Given the description of an element on the screen output the (x, y) to click on. 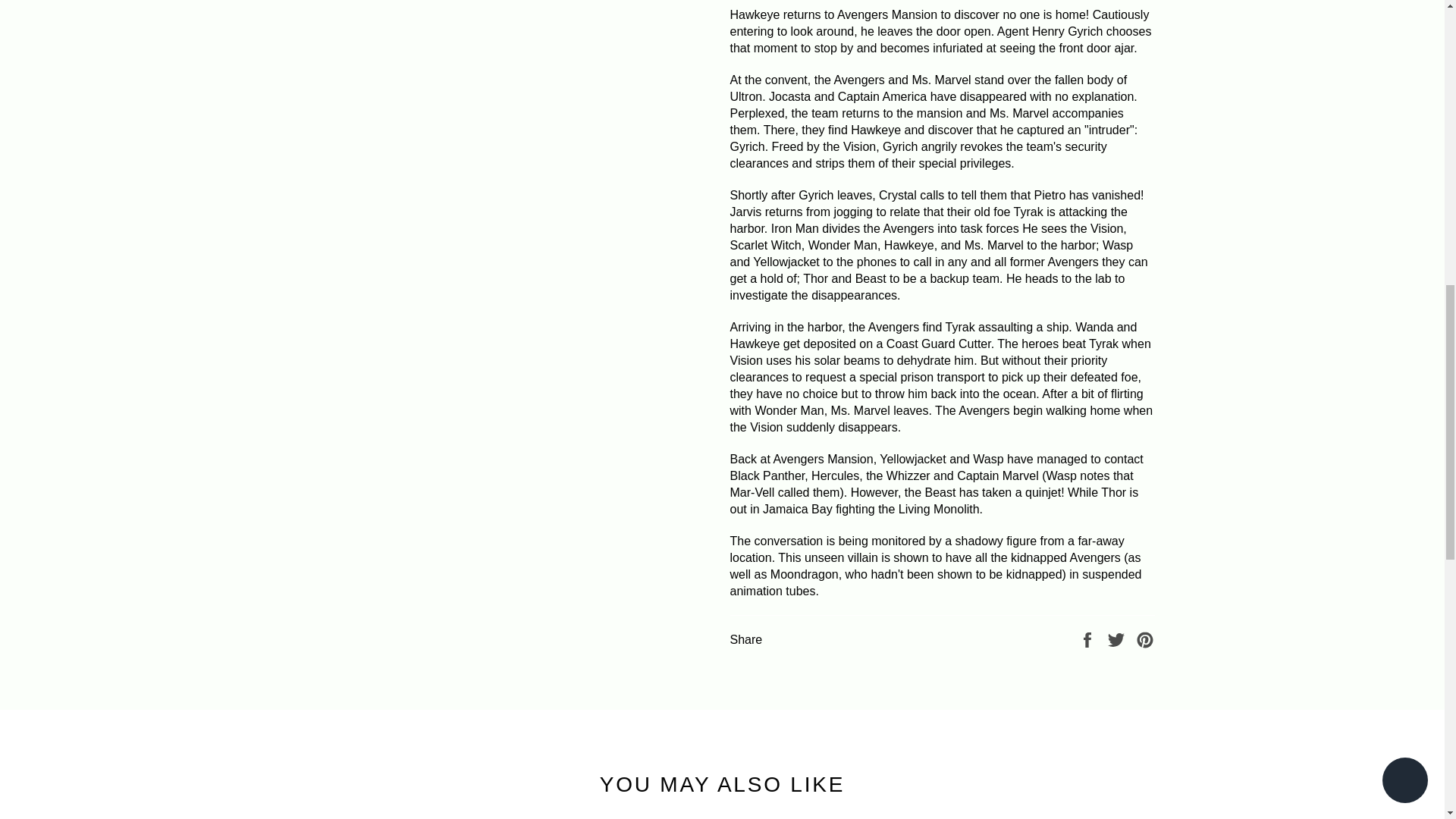
Share on Facebook (1088, 638)
Pin on Pinterest (1144, 638)
Tweet on Twitter (1117, 638)
